Given the description of an element on the screen output the (x, y) to click on. 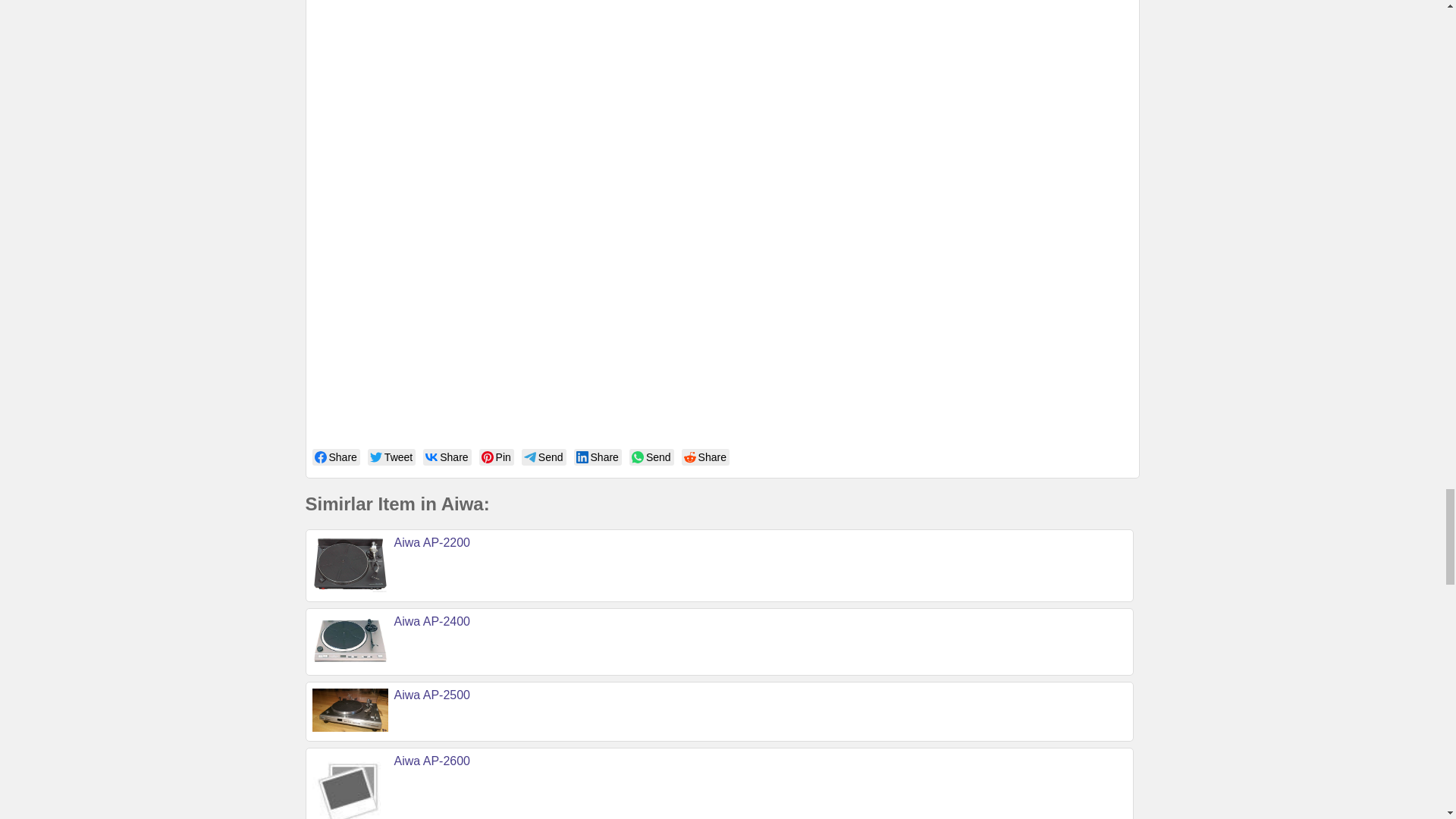
Aiwa AP-2600 (432, 760)
Aiwa AP-2200 (432, 542)
Aiwa AP-2400 (432, 621)
Aiwa AP-2500 (432, 694)
